Given the description of an element on the screen output the (x, y) to click on. 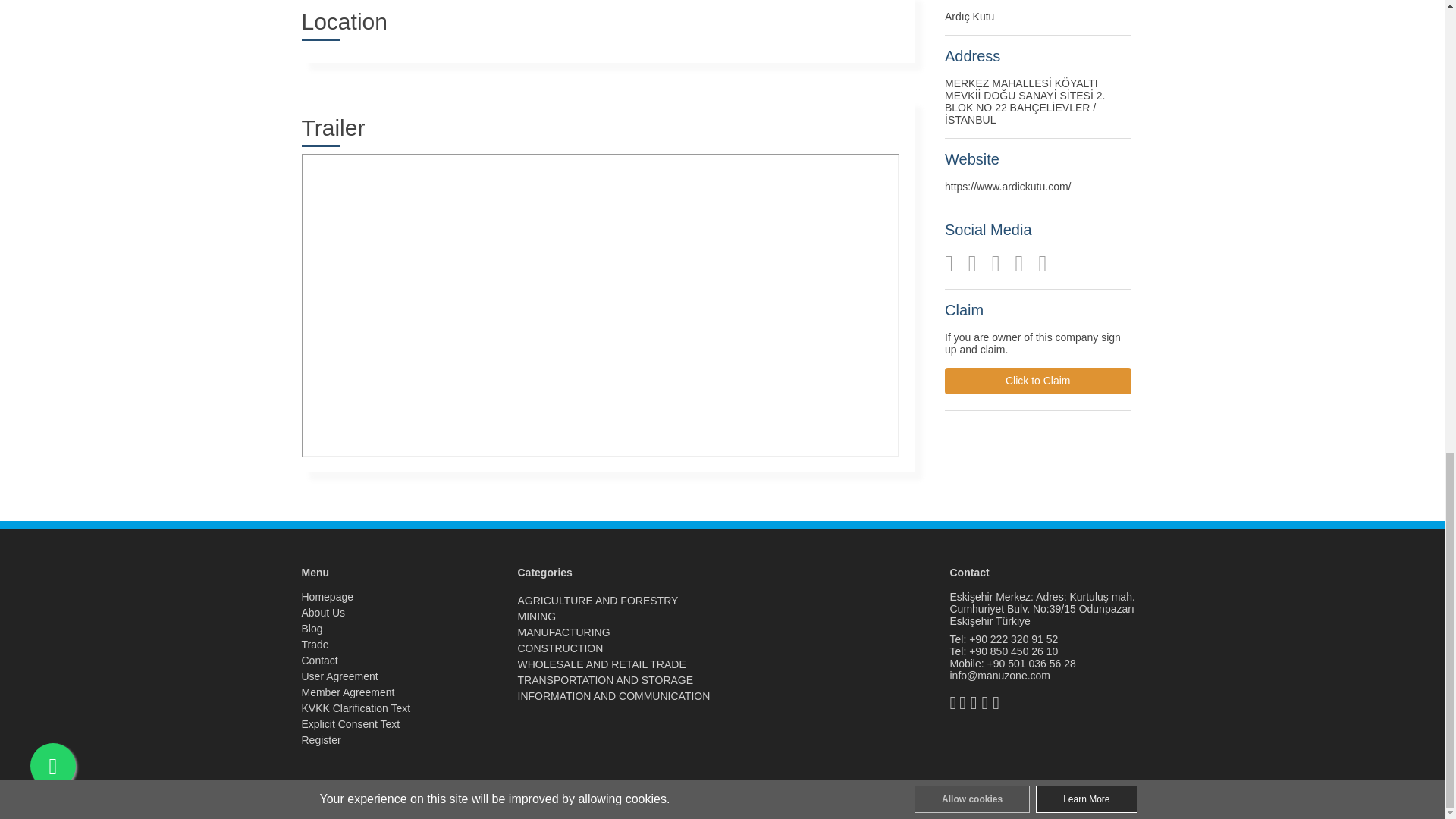
Contact (319, 660)
Click to Claim (1037, 380)
Register (320, 739)
About Us (323, 612)
Trade (315, 644)
Explicit Consent Text (350, 724)
User Agreement (339, 676)
Member Agreement (347, 692)
Blog (312, 628)
KVKK Clarification Text (355, 707)
